Given the description of an element on the screen output the (x, y) to click on. 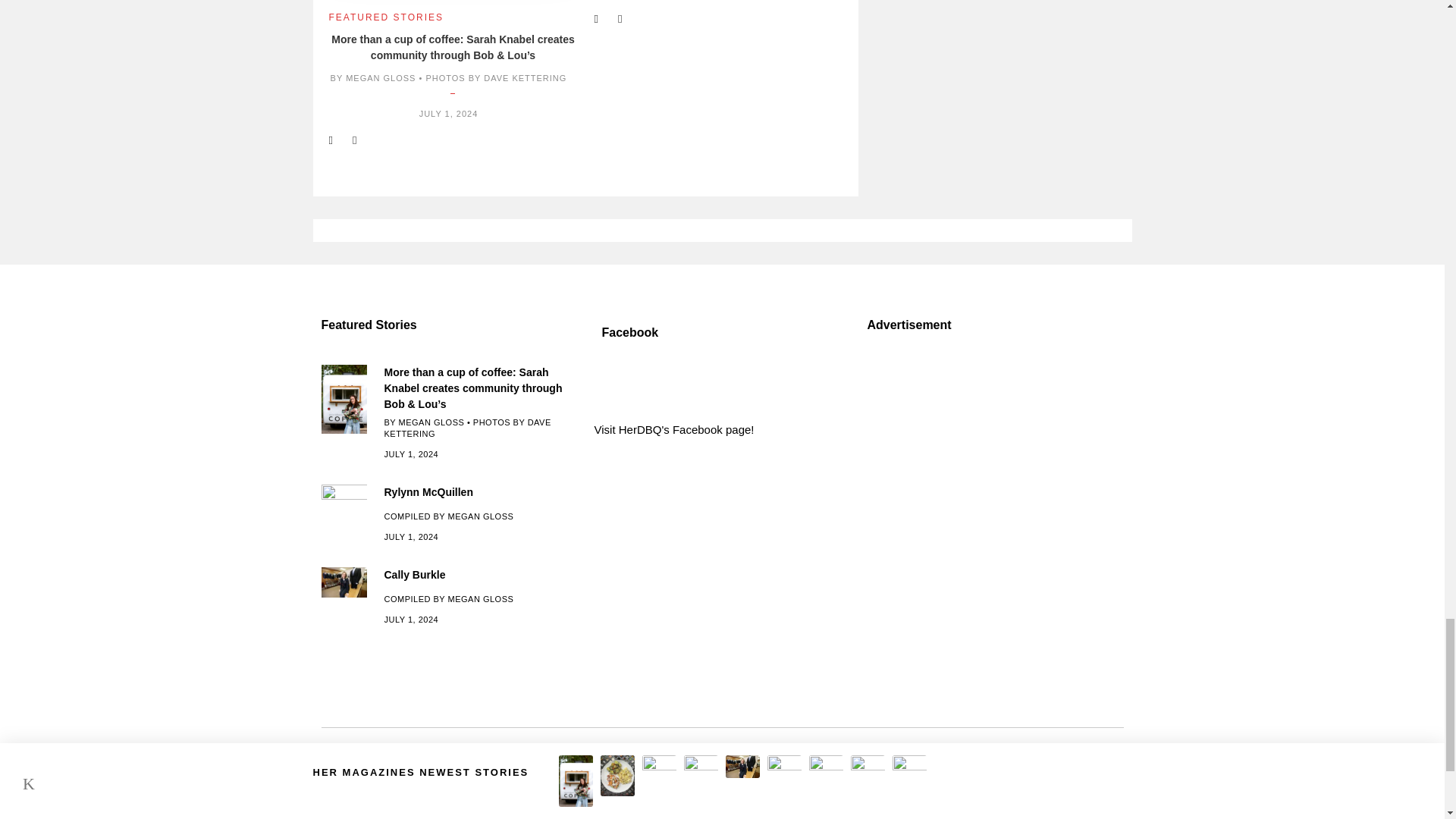
FEATURED STORIES (386, 17)
JULY 1, 2024 (449, 112)
